Given the description of an element on the screen output the (x, y) to click on. 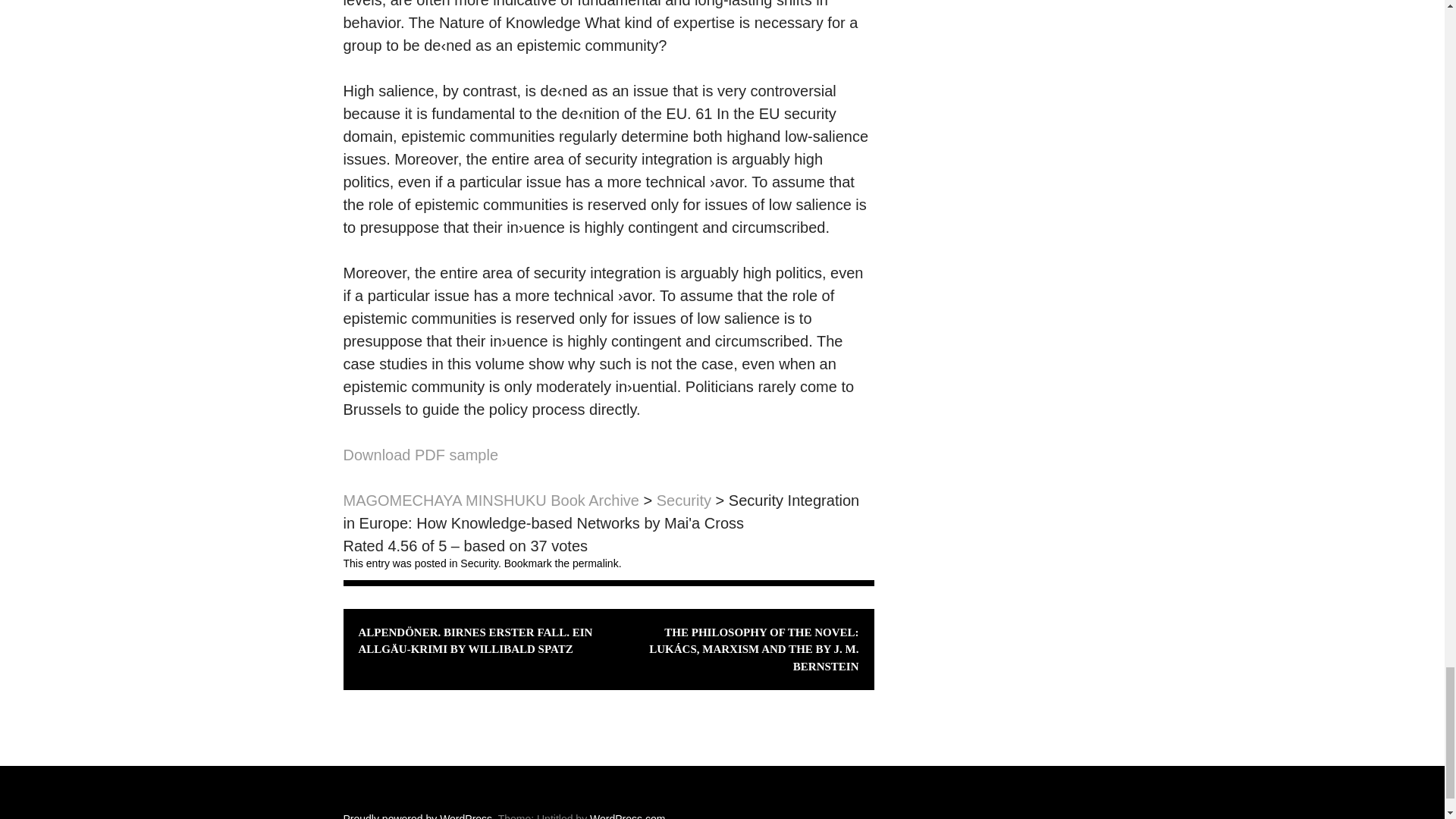
Go to the Security category archives. (683, 500)
permalink (595, 563)
Security (478, 563)
Go to MAGOMECHAYA MINSHUKU Book Archive. (490, 500)
A Semantic Personal Publishing Platform (417, 816)
Security (683, 500)
Download PDF sample (419, 454)
MAGOMECHAYA MINSHUKU Book Archive (490, 500)
